Given the description of an element on the screen output the (x, y) to click on. 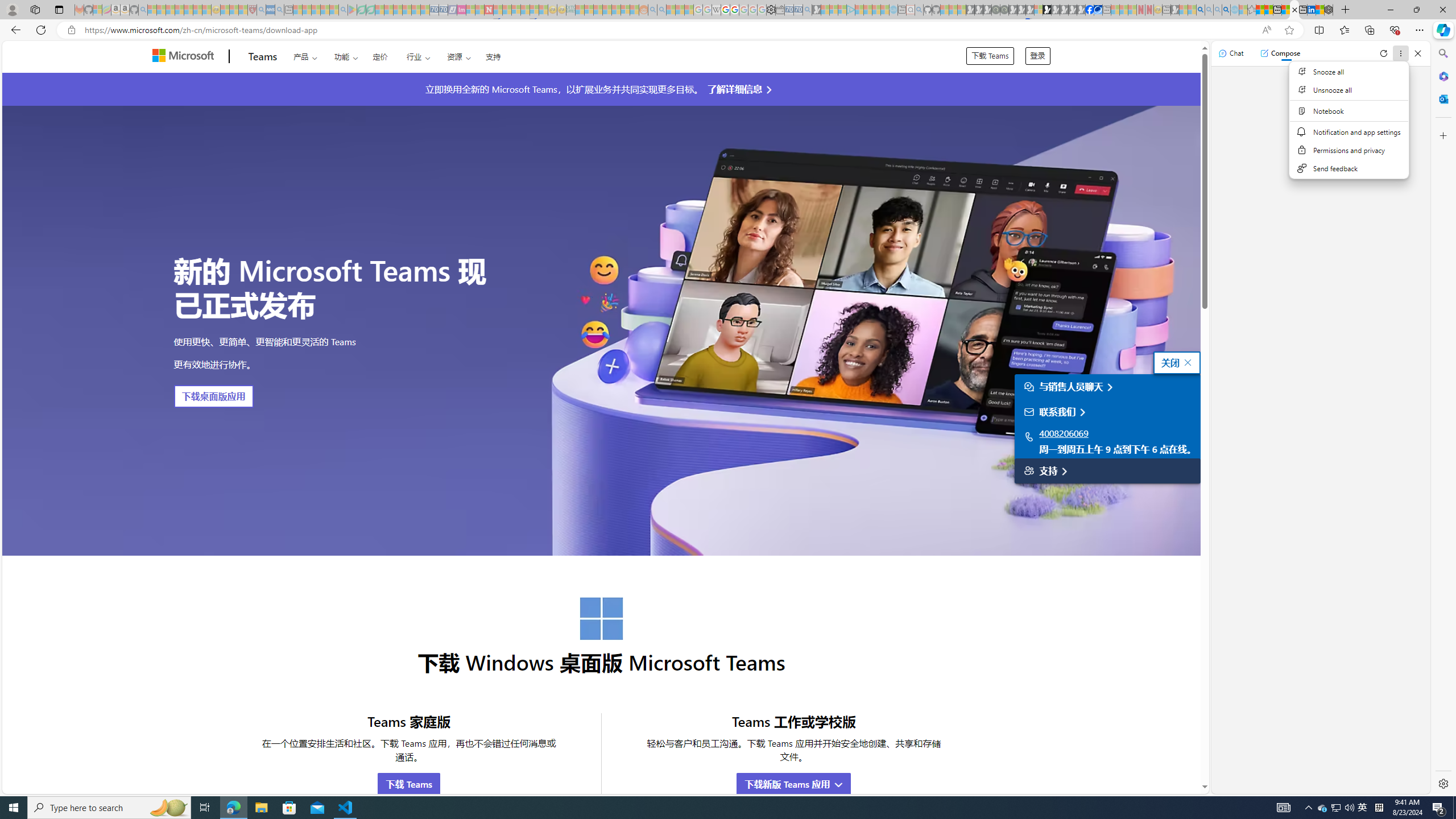
Teams (262, 56)
New Report Confirms 2023 Was Record Hot | Watch - Sleeping (188, 9)
Wallet - Sleeping (779, 9)
